Given the description of an element on the screen output the (x, y) to click on. 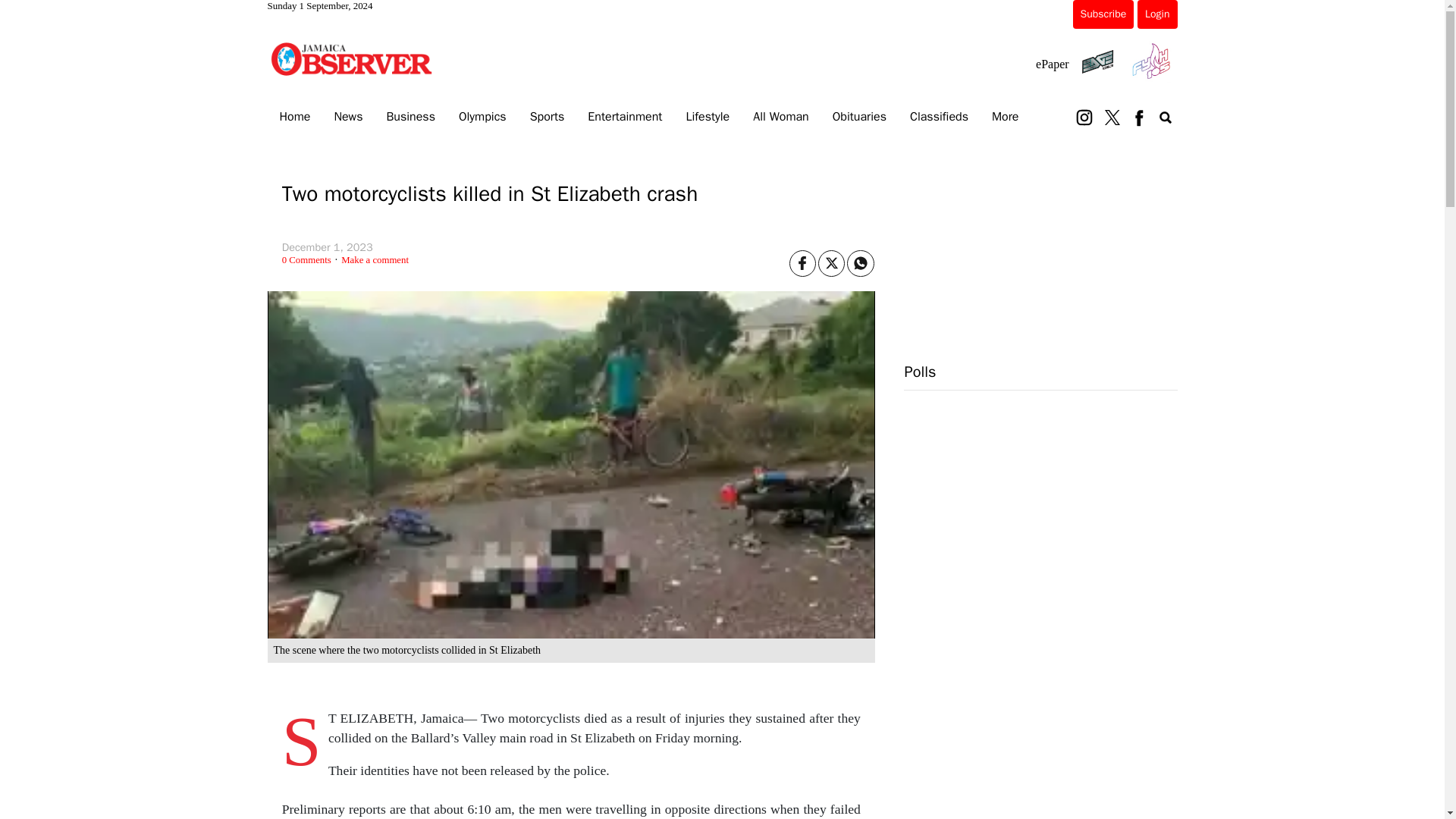
Login (1156, 14)
Subscribe (1103, 14)
ePaper (1051, 64)
